Given the description of an element on the screen output the (x, y) to click on. 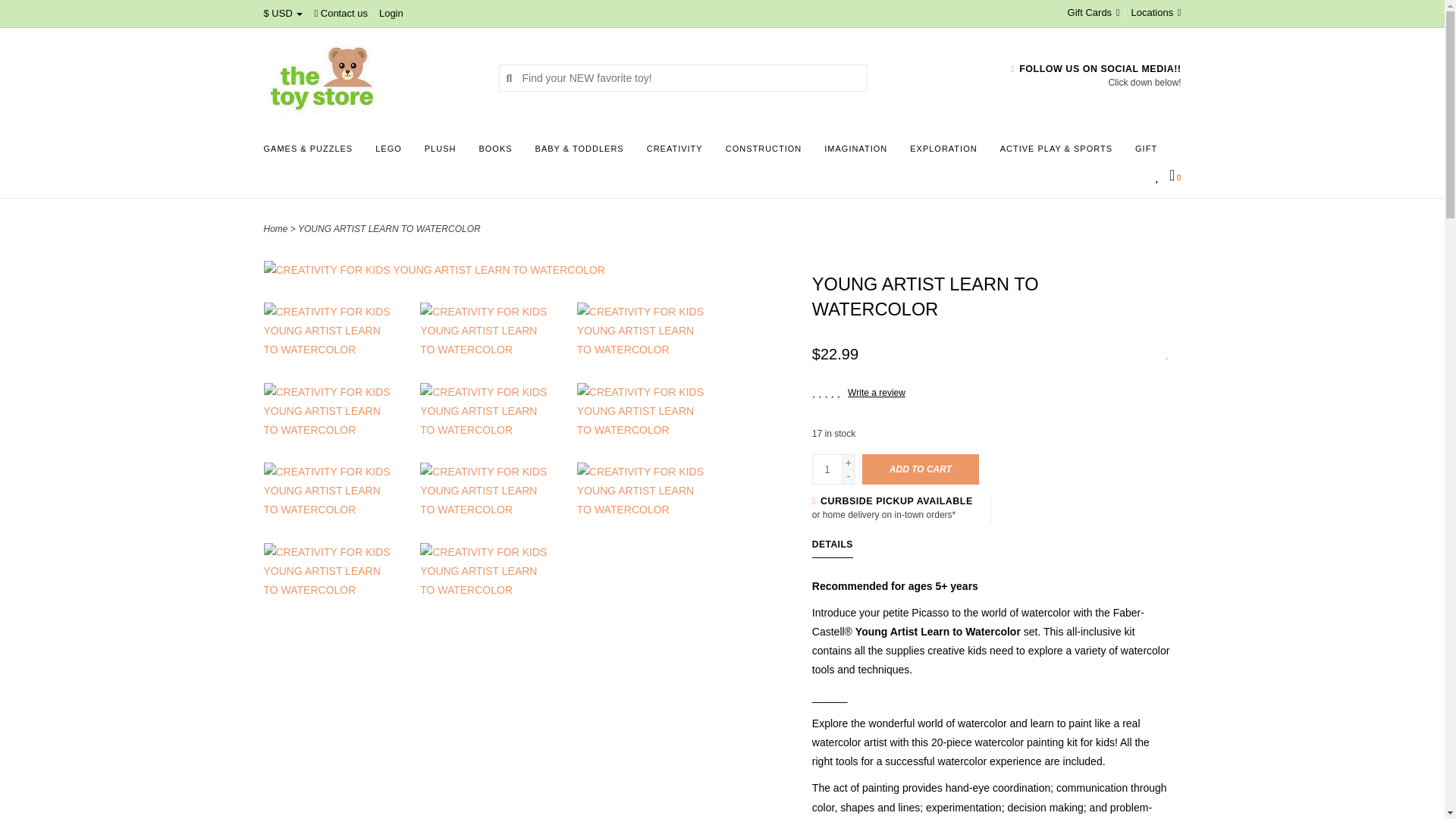
Locations (1152, 12)
Login (390, 12)
Currency (282, 12)
Contact us (341, 12)
1 (827, 468)
THE TOY STORE (369, 77)
LEGO (392, 152)
My account (390, 12)
